Given the description of an element on the screen output the (x, y) to click on. 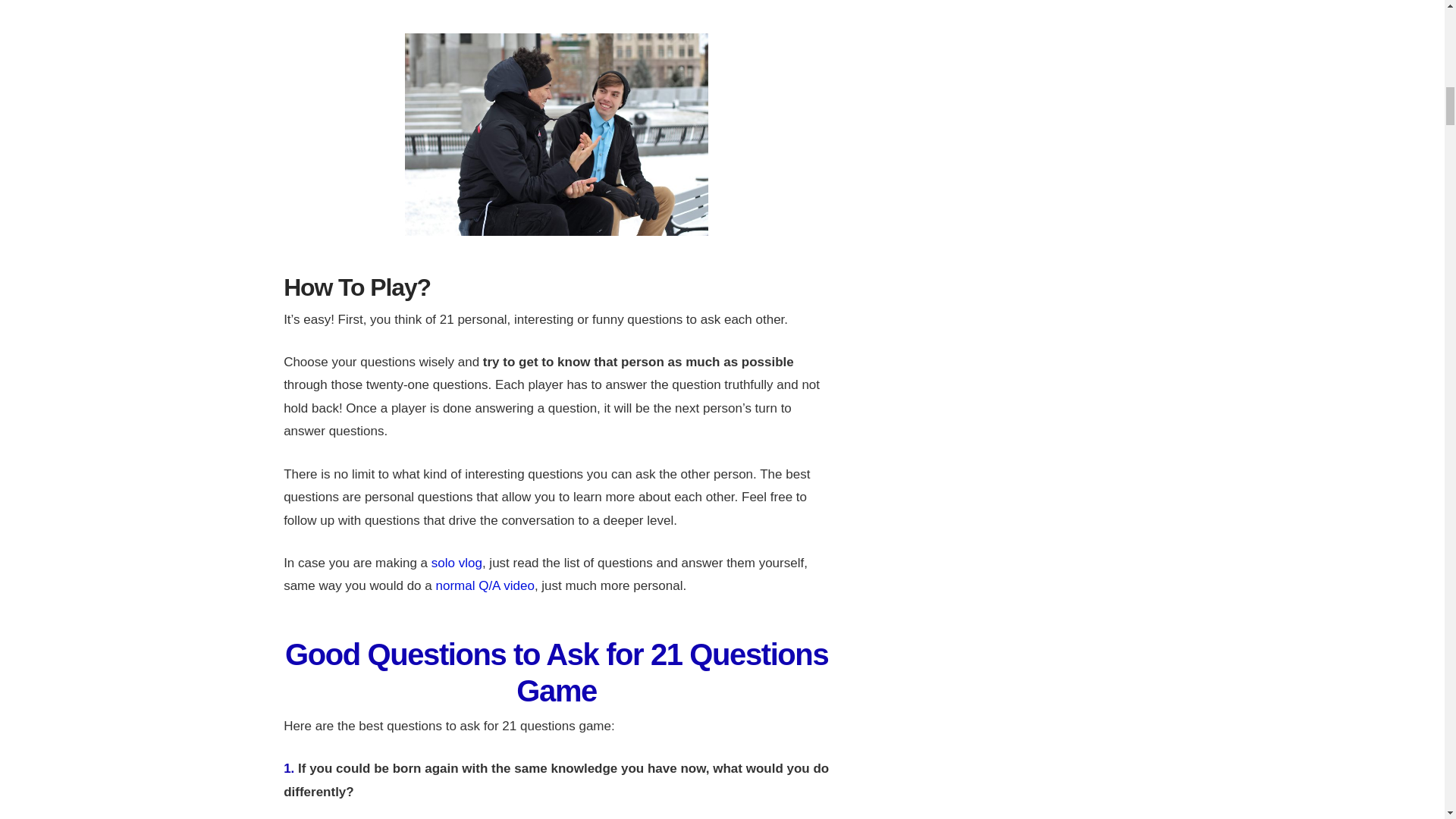
solo vlog (455, 563)
